Given the description of an element on the screen output the (x, y) to click on. 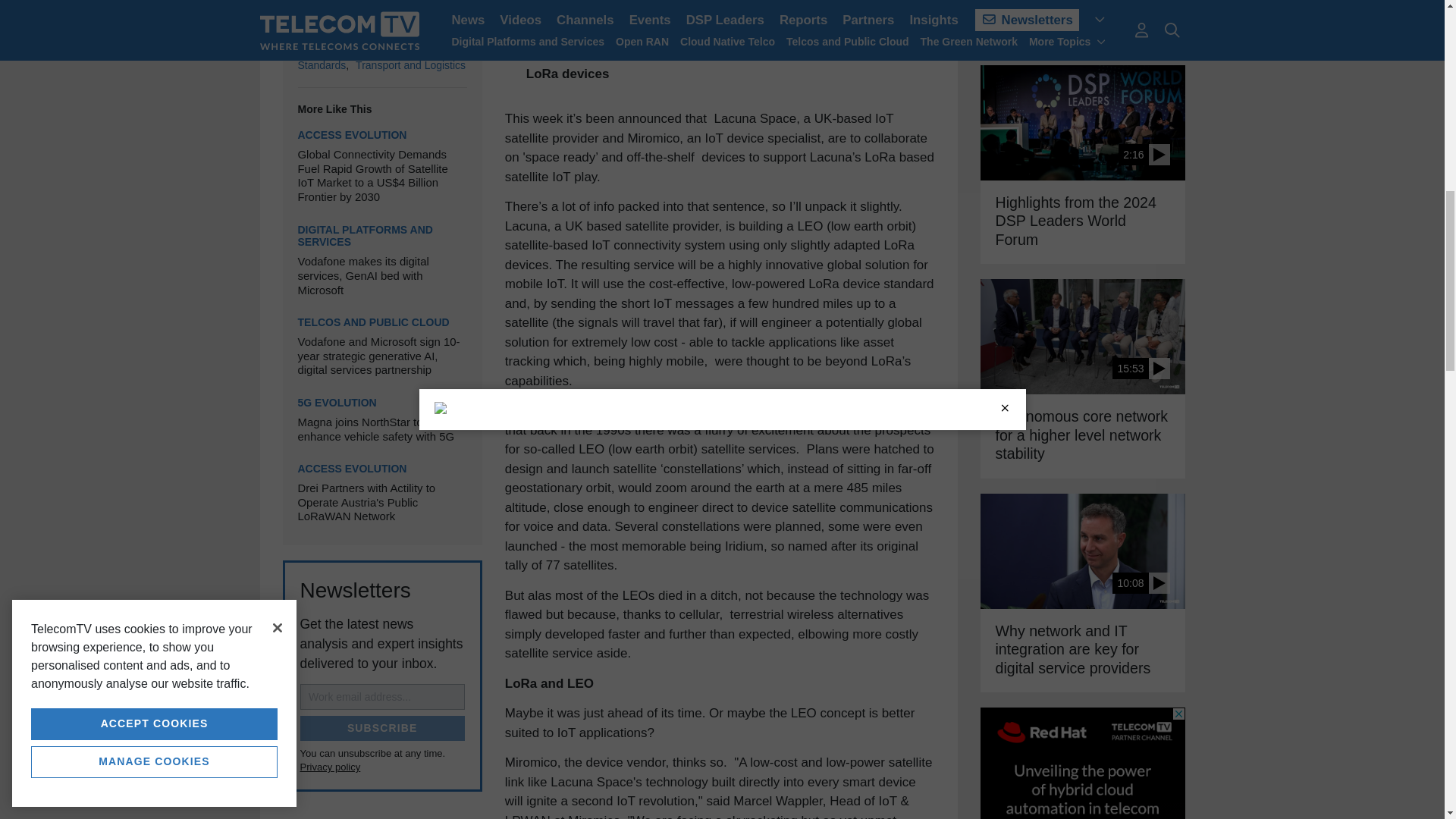
3rd party ad content (1082, 763)
